Given the description of an element on the screen output the (x, y) to click on. 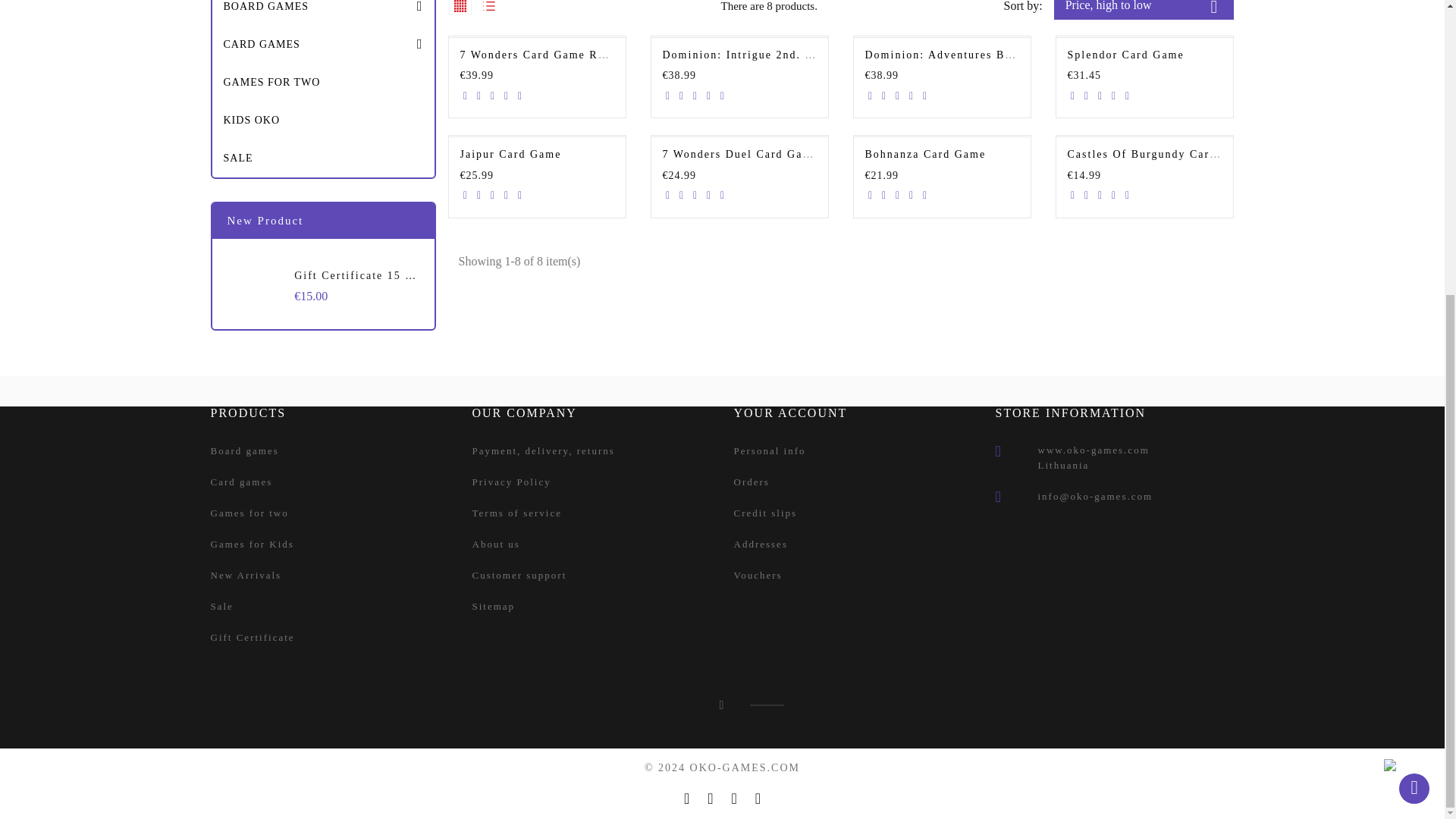
BOARD GAMES (322, 12)
CARD GAMES (322, 44)
